Given the description of an element on the screen output the (x, y) to click on. 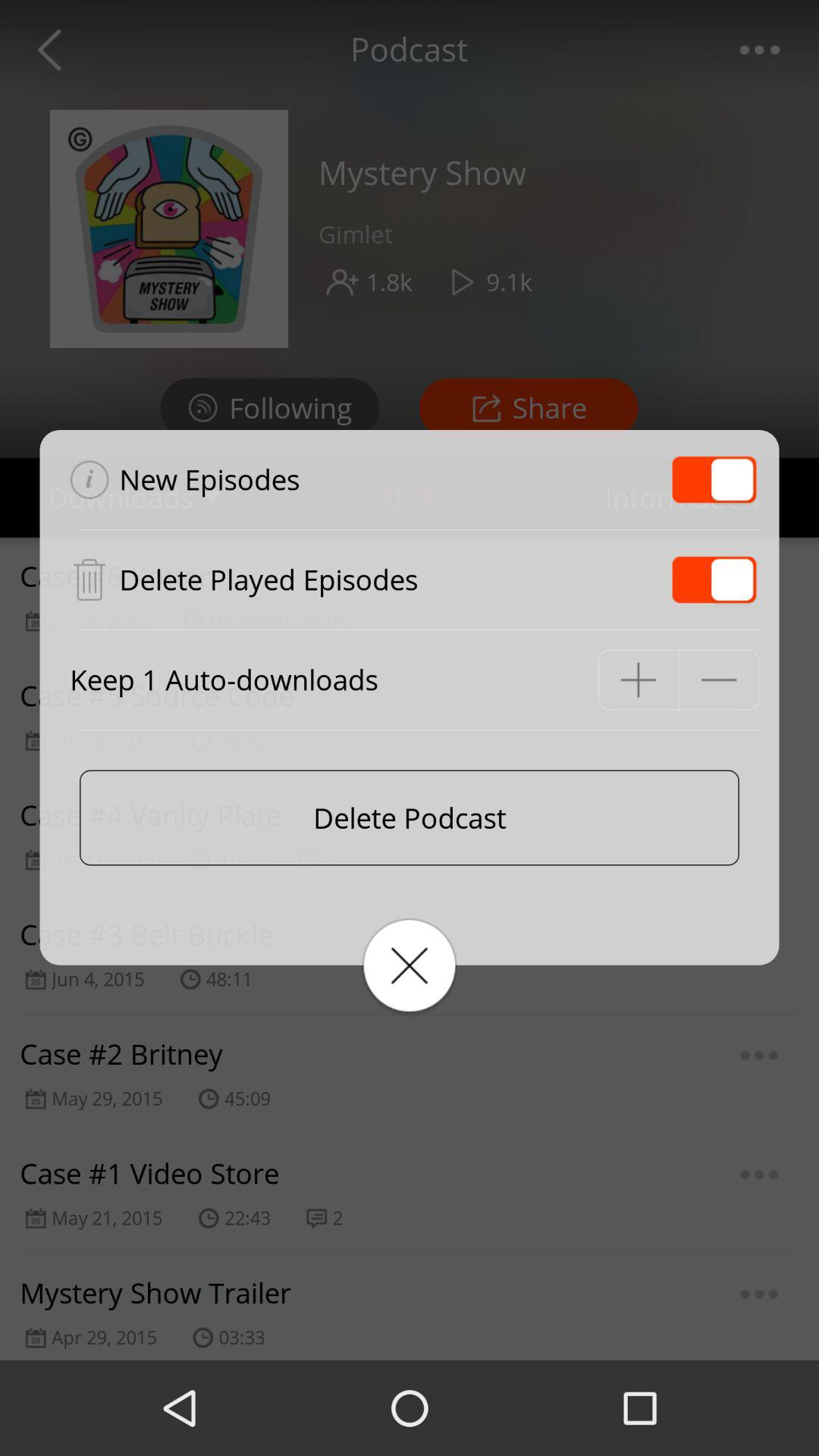
swipe until the delete podcast item (409, 817)
